Given the description of an element on the screen output the (x, y) to click on. 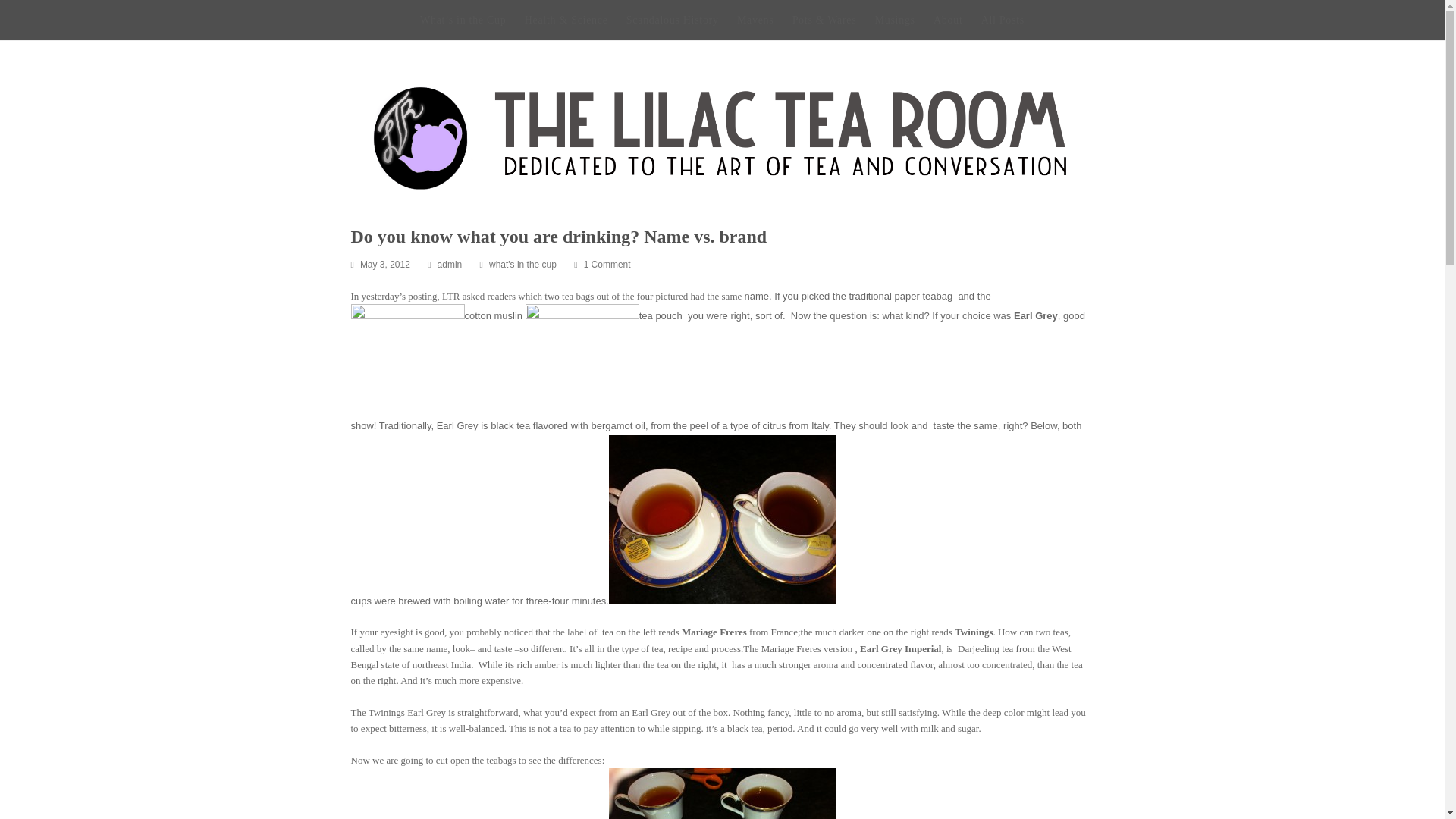
Scandalous History (672, 19)
traditional tea bag (407, 360)
Posts by admin (450, 264)
cotton muslin tea pouch (582, 360)
1 Comment (601, 264)
tea bags cut open (721, 793)
All Posts (1003, 19)
Mavens (755, 19)
1 Comment (606, 264)
Musings (895, 19)
About (947, 19)
admin (450, 264)
what's in the cup (522, 264)
